Given the description of an element on the screen output the (x, y) to click on. 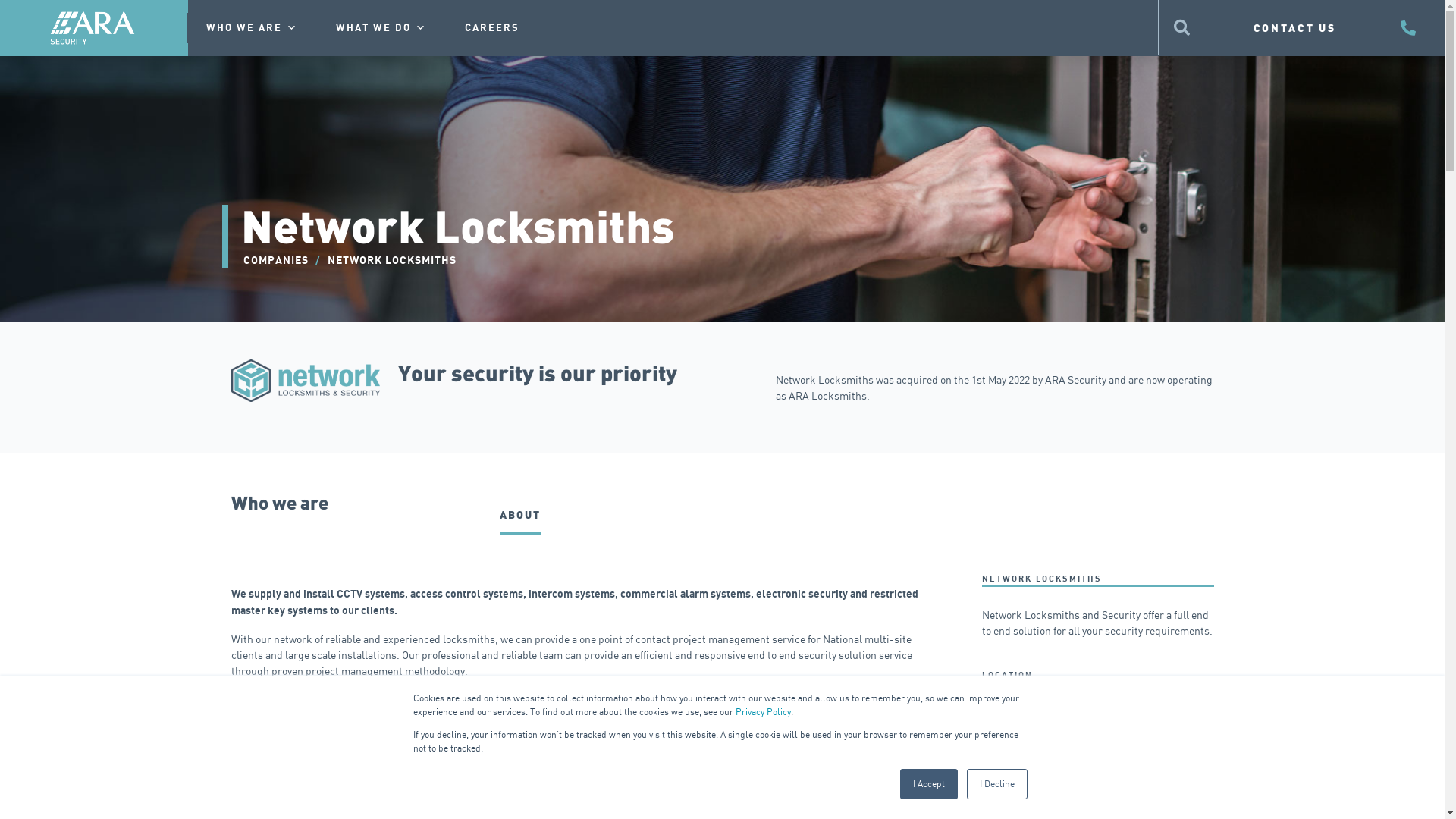
I Decline Element type: text (996, 783)
WHO WE ARE Element type: text (251, 27)
CONTACT US Element type: text (1294, 27)
ABOUT Element type: text (518, 520)
I Accept Element type: text (928, 783)
CAREERS Element type: text (491, 27)
WHAT WE DO Element type: text (380, 27)
Contact us Element type: text (1006, 711)
Privacy Policy Element type: text (762, 711)
COMPANIES Element type: text (274, 260)
